Given the description of an element on the screen output the (x, y) to click on. 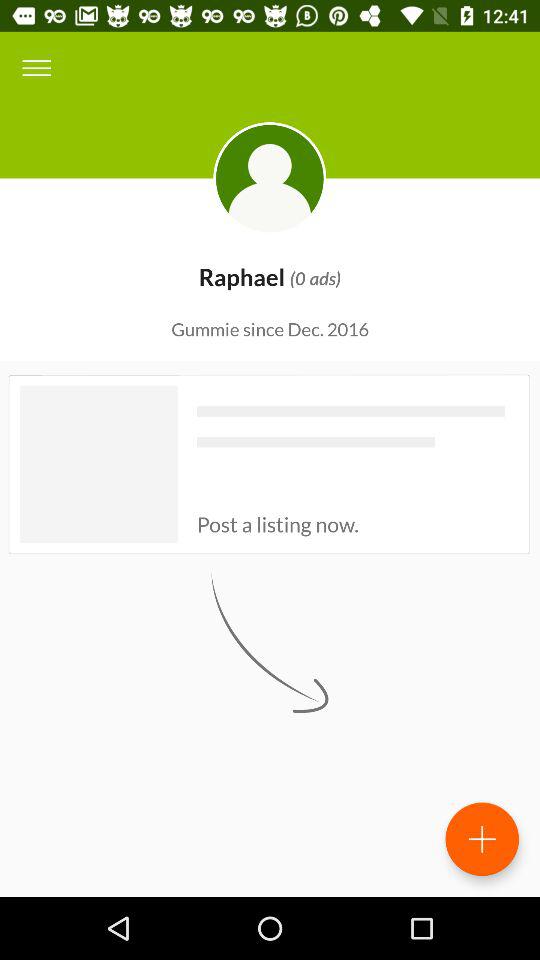
turn off icon above gummie since dec icon (36, 68)
